Given the description of an element on the screen output the (x, y) to click on. 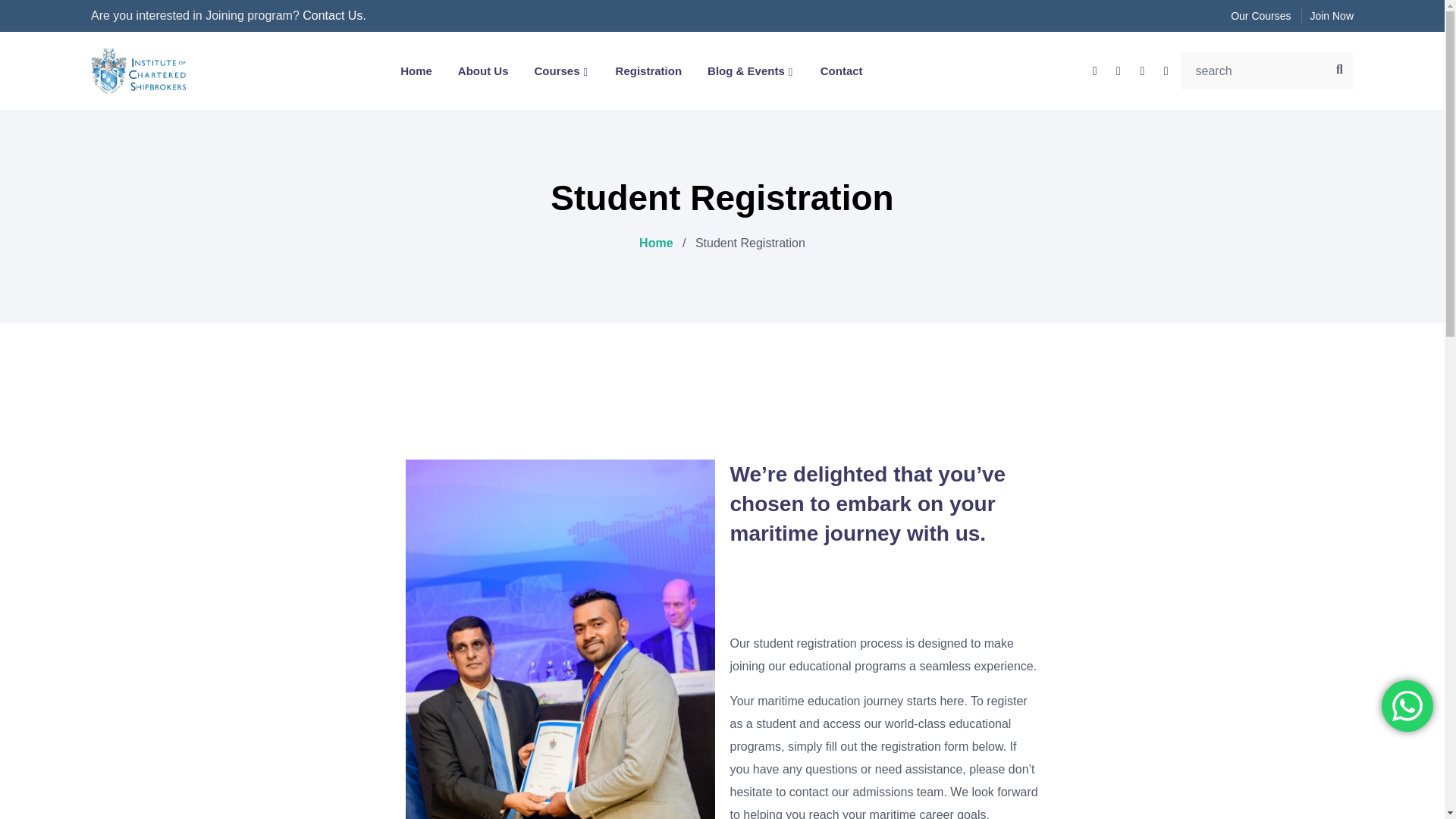
Home (655, 242)
Registration (648, 70)
WhatsApp us (1406, 706)
About Us (483, 70)
Contact Us. (334, 15)
Courses (561, 70)
Our Courses (1260, 15)
Contact (842, 70)
Join Now (1331, 15)
Home (416, 70)
